Given the description of an element on the screen output the (x, y) to click on. 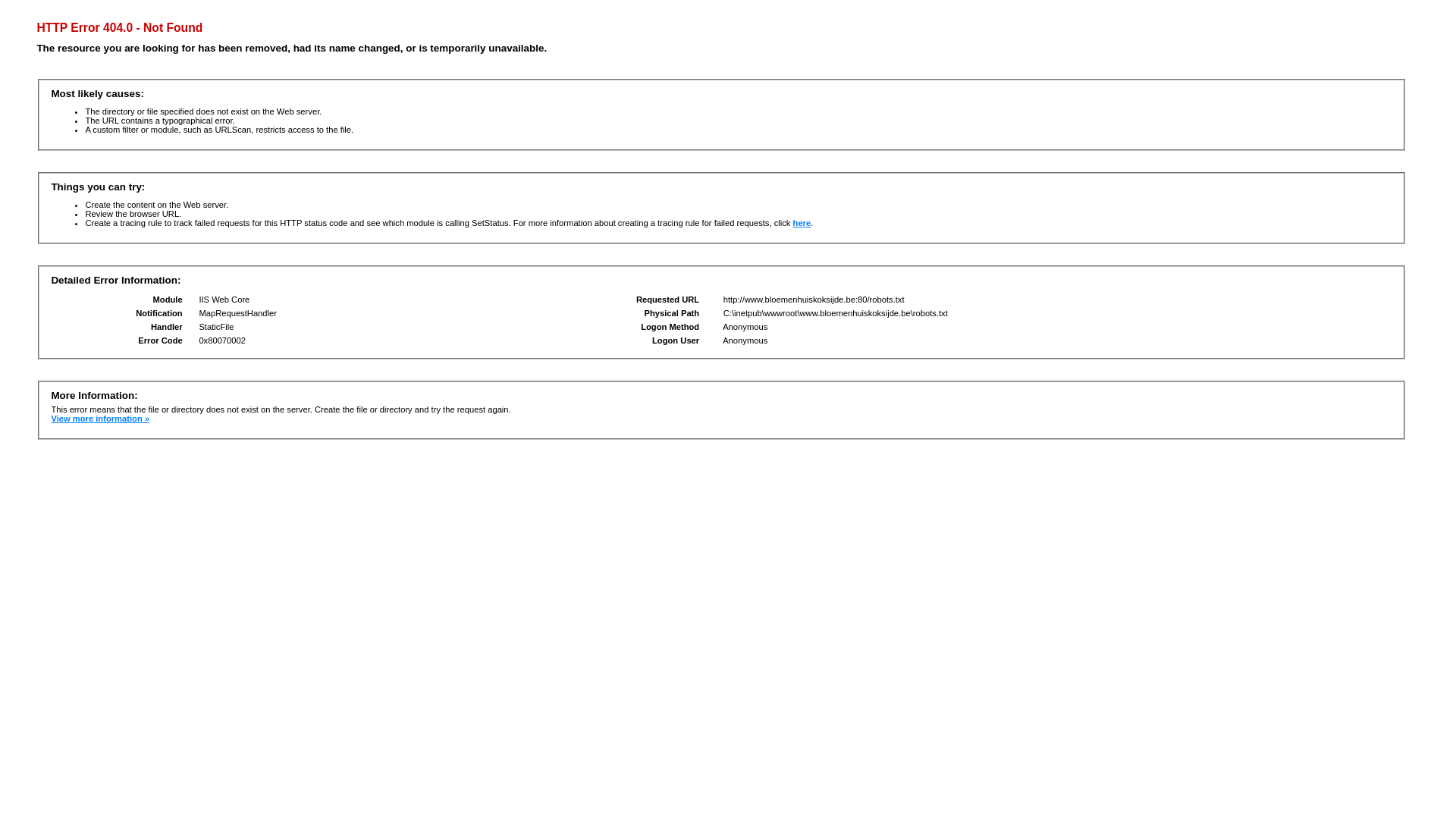
here Element type: text (802, 222)
